Given the description of an element on the screen output the (x, y) to click on. 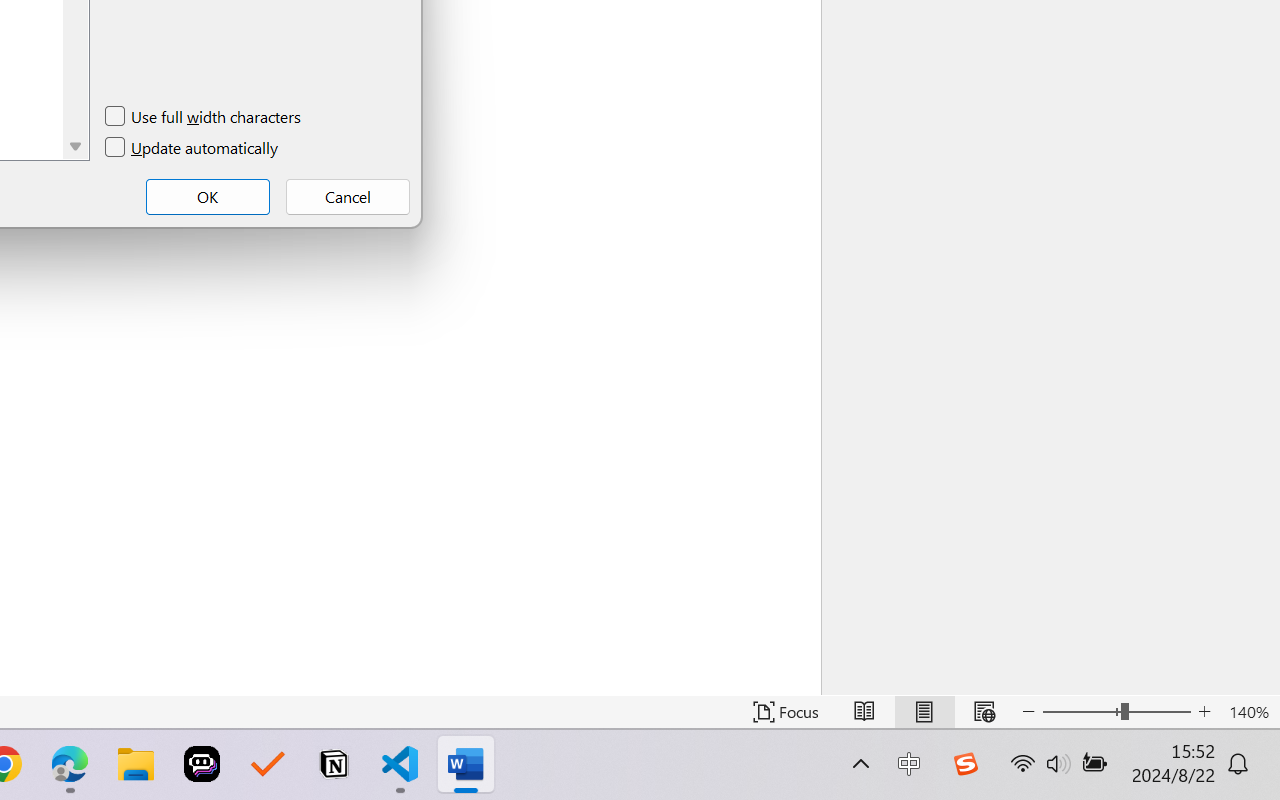
Poe (201, 764)
Web Layout (984, 712)
Class: Image (965, 764)
Focus  (786, 712)
Zoom 140% (1249, 712)
Notion (333, 764)
